Given the description of an element on the screen output the (x, y) to click on. 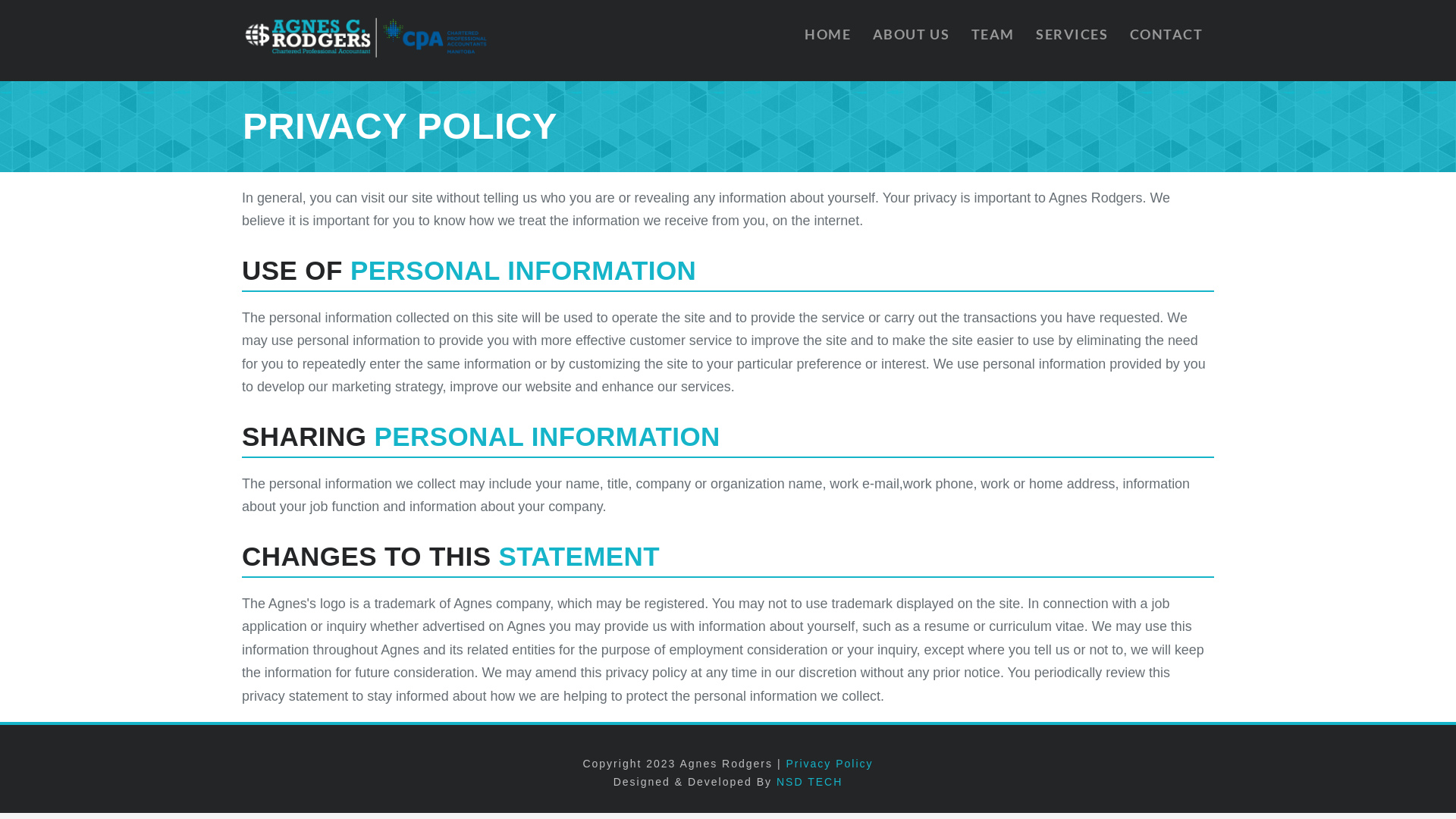
TEAM Element type: text (992, 40)
CONTACT Element type: text (1165, 40)
ABOUT US Element type: text (910, 40)
NSD TECH Element type: text (809, 781)
SERVICES Element type: text (1071, 40)
HOME Element type: text (827, 40)
Privacy Policy Element type: text (828, 763)
